Given the description of an element on the screen output the (x, y) to click on. 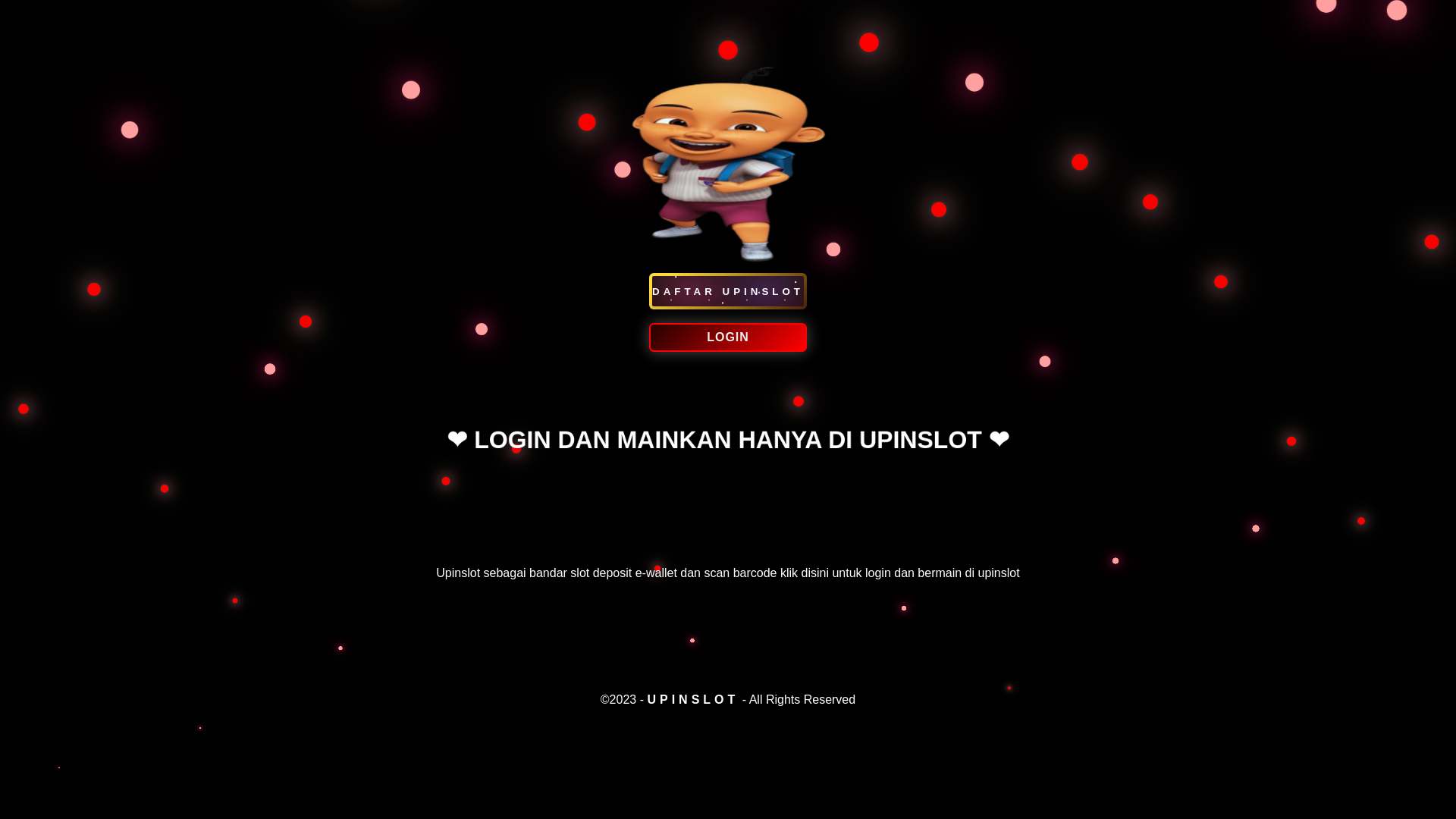
DAFTAR UPINSLOT (727, 290)
UPINSLOT (692, 698)
LOGIN (727, 360)
